Given the description of an element on the screen output the (x, y) to click on. 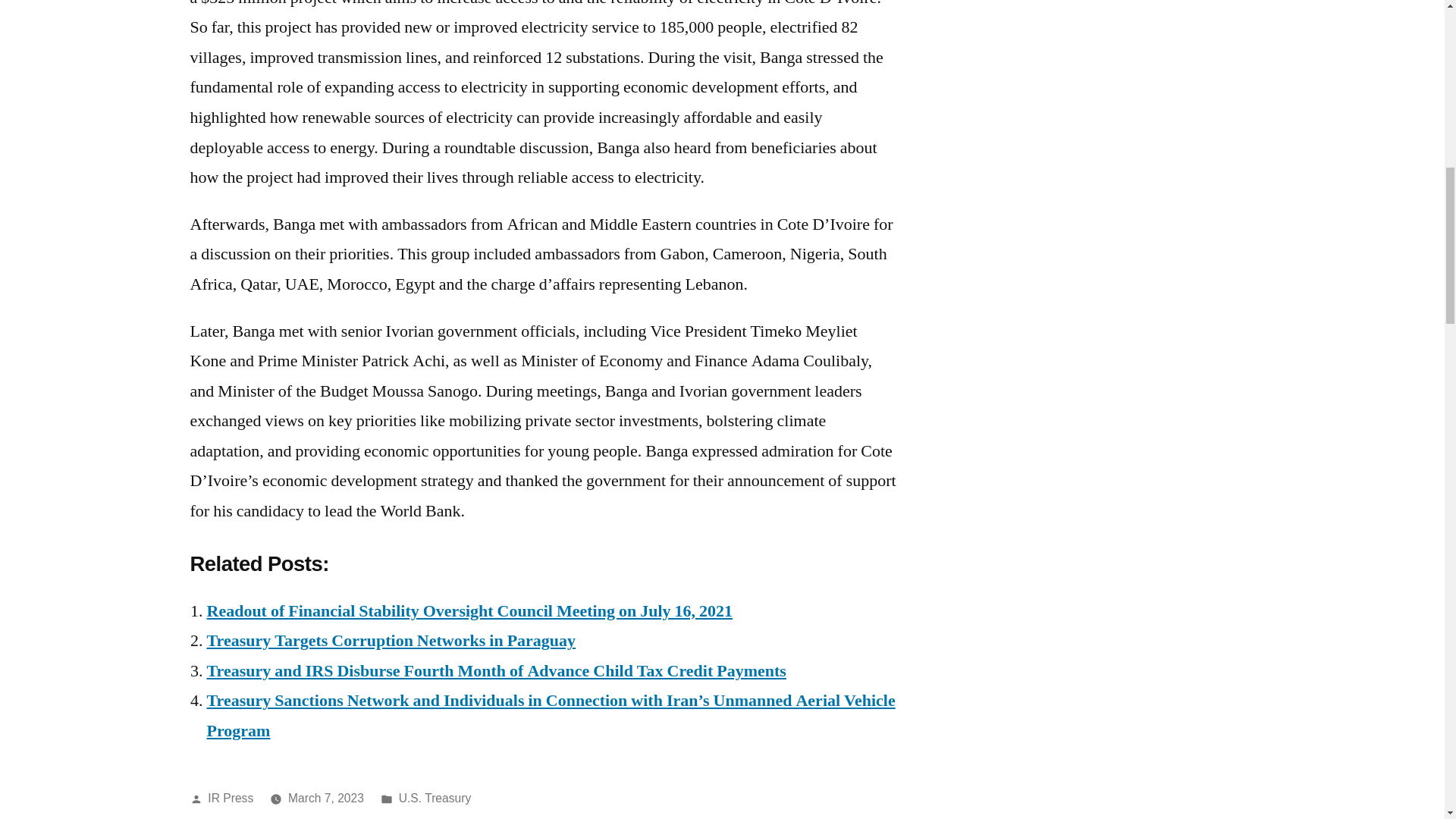
March 7, 2023 (326, 797)
IR Press (230, 797)
Treasury Targets Corruption Networks in Paraguay (390, 640)
Treasury Targets Corruption Networks in Paraguay (390, 640)
U.S. Treasury (434, 797)
